Given the description of an element on the screen output the (x, y) to click on. 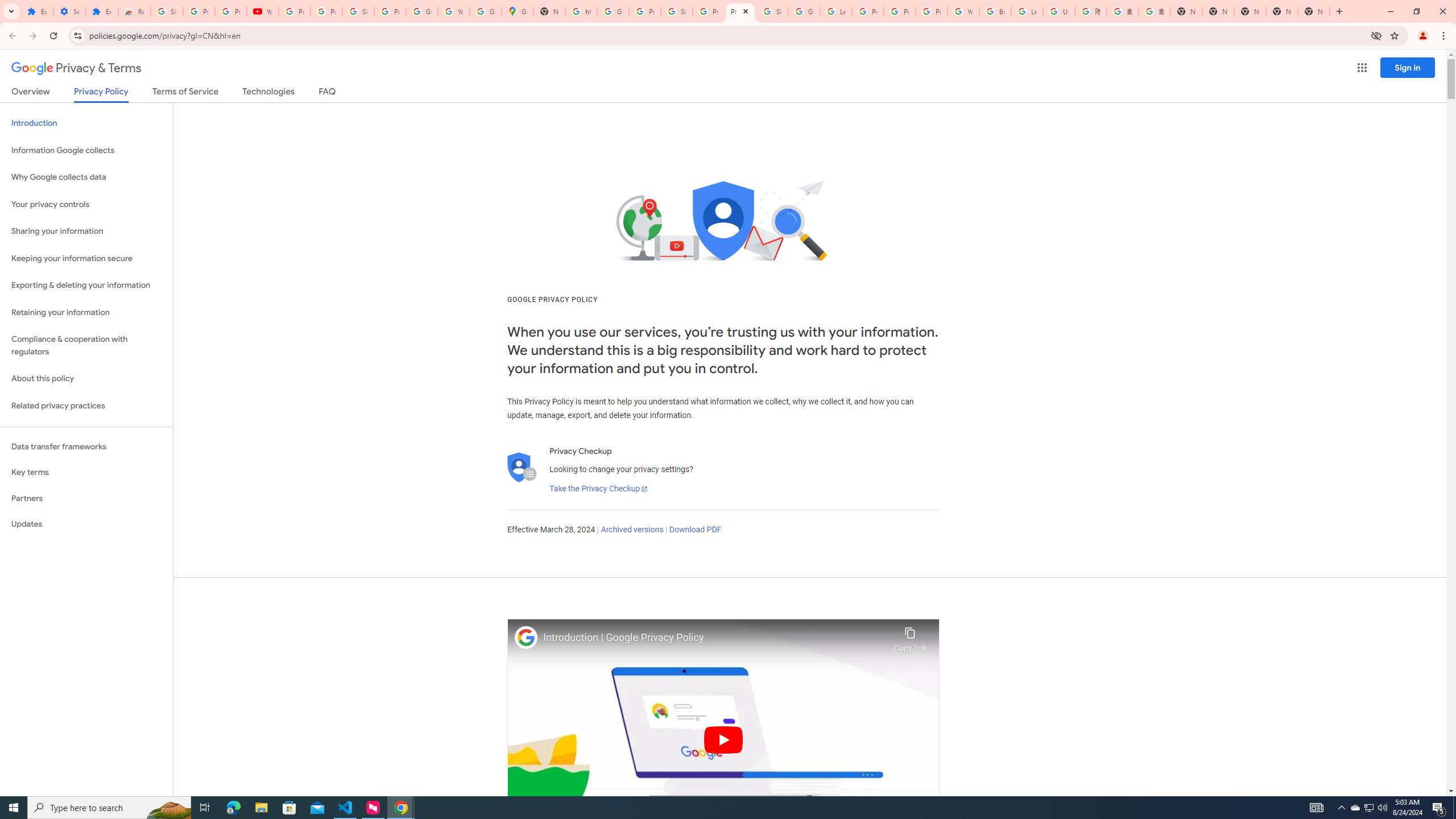
Extensions (101, 11)
YouTube (963, 11)
Related privacy practices (86, 405)
Sign in - Google Accounts (358, 11)
